Given the description of an element on the screen output the (x, y) to click on. 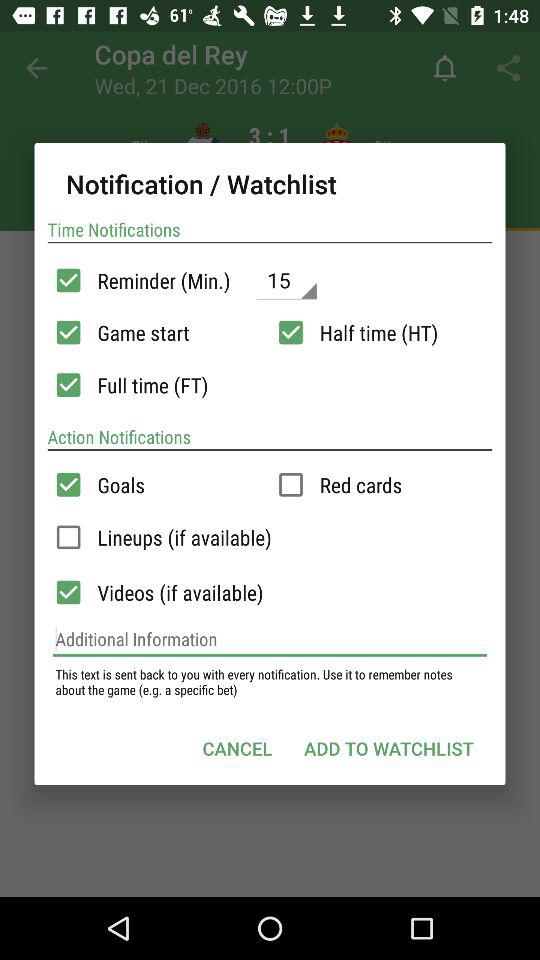
toggle red cards (290, 484)
